Given the description of an element on the screen output the (x, y) to click on. 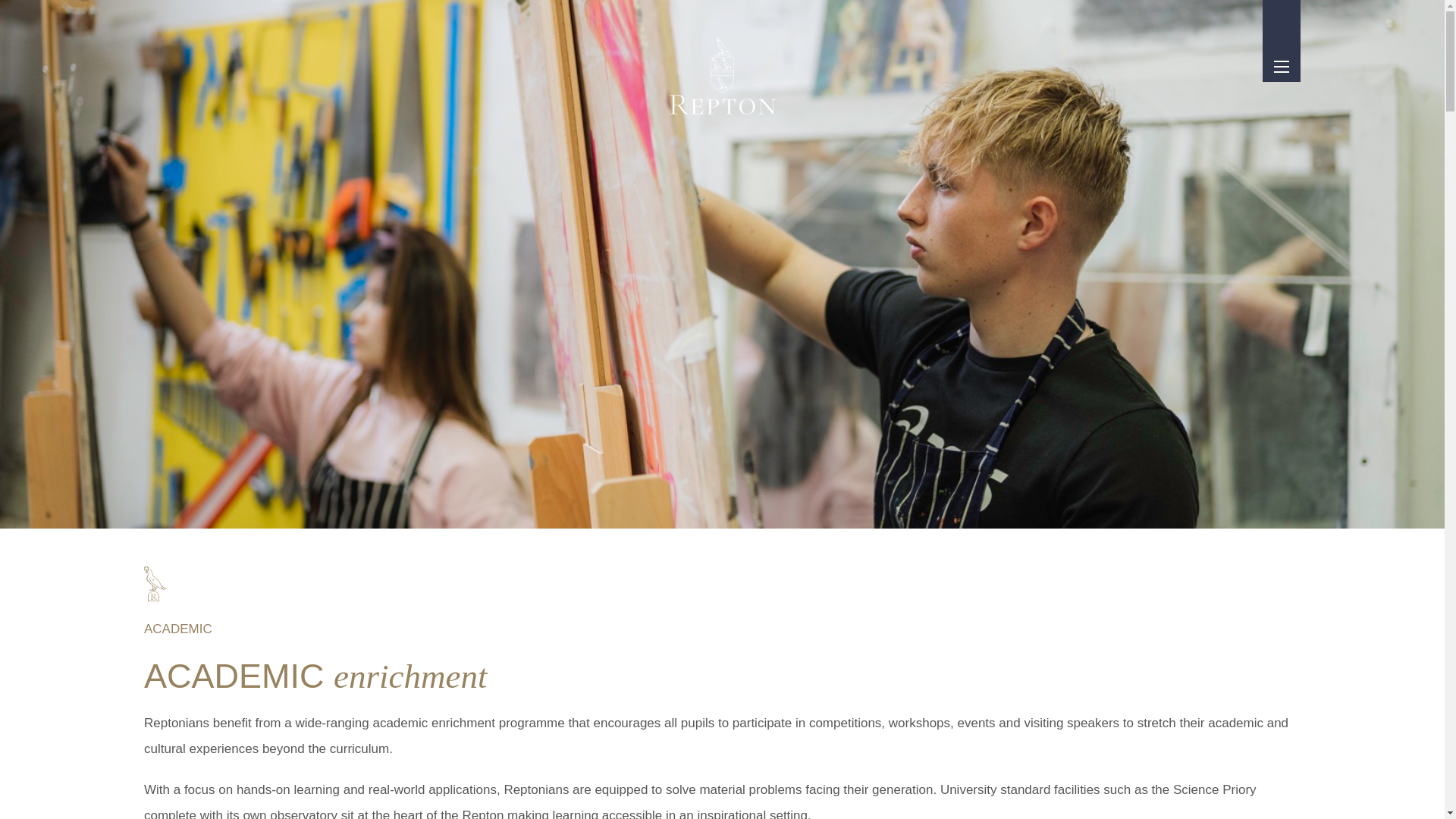
Menu (1281, 67)
